Given the description of an element on the screen output the (x, y) to click on. 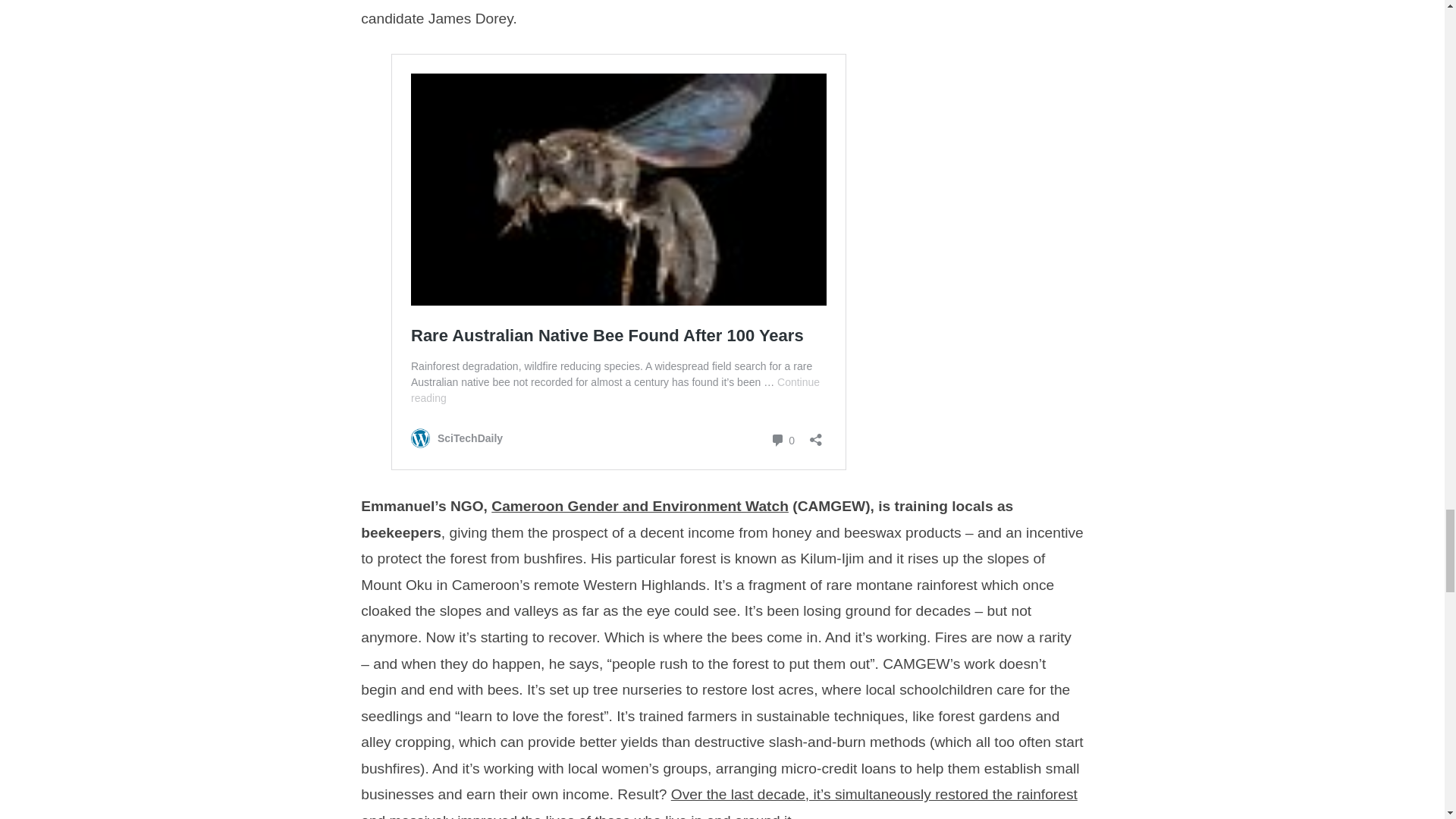
Cameroon Gender and Environment Watch (640, 505)
